Given the description of an element on the screen output the (x, y) to click on. 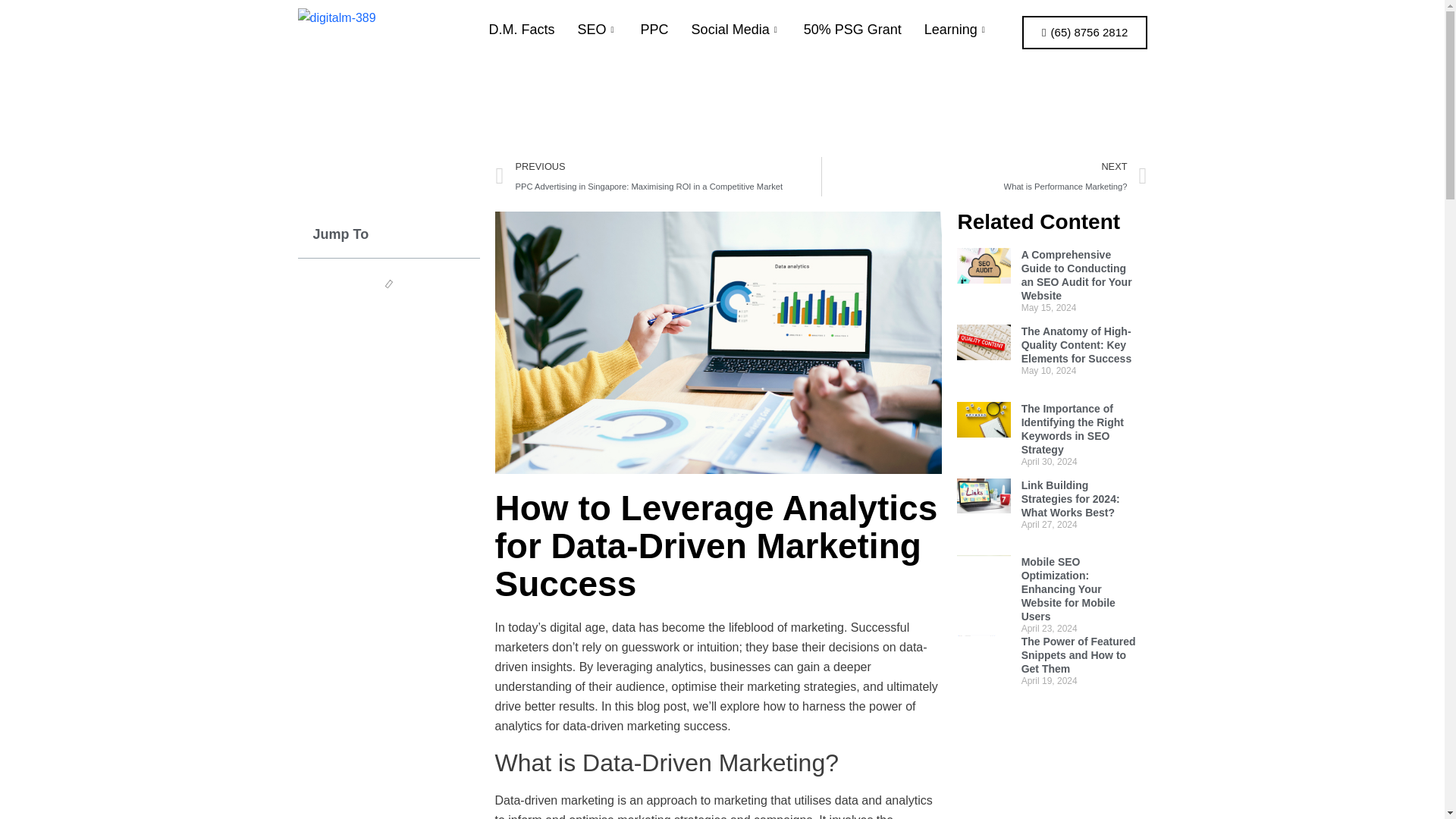
Social Media (984, 176)
D.M. Facts (735, 29)
Learning (521, 29)
SEO (956, 29)
digitalm-389 (597, 29)
